Given the description of an element on the screen output the (x, y) to click on. 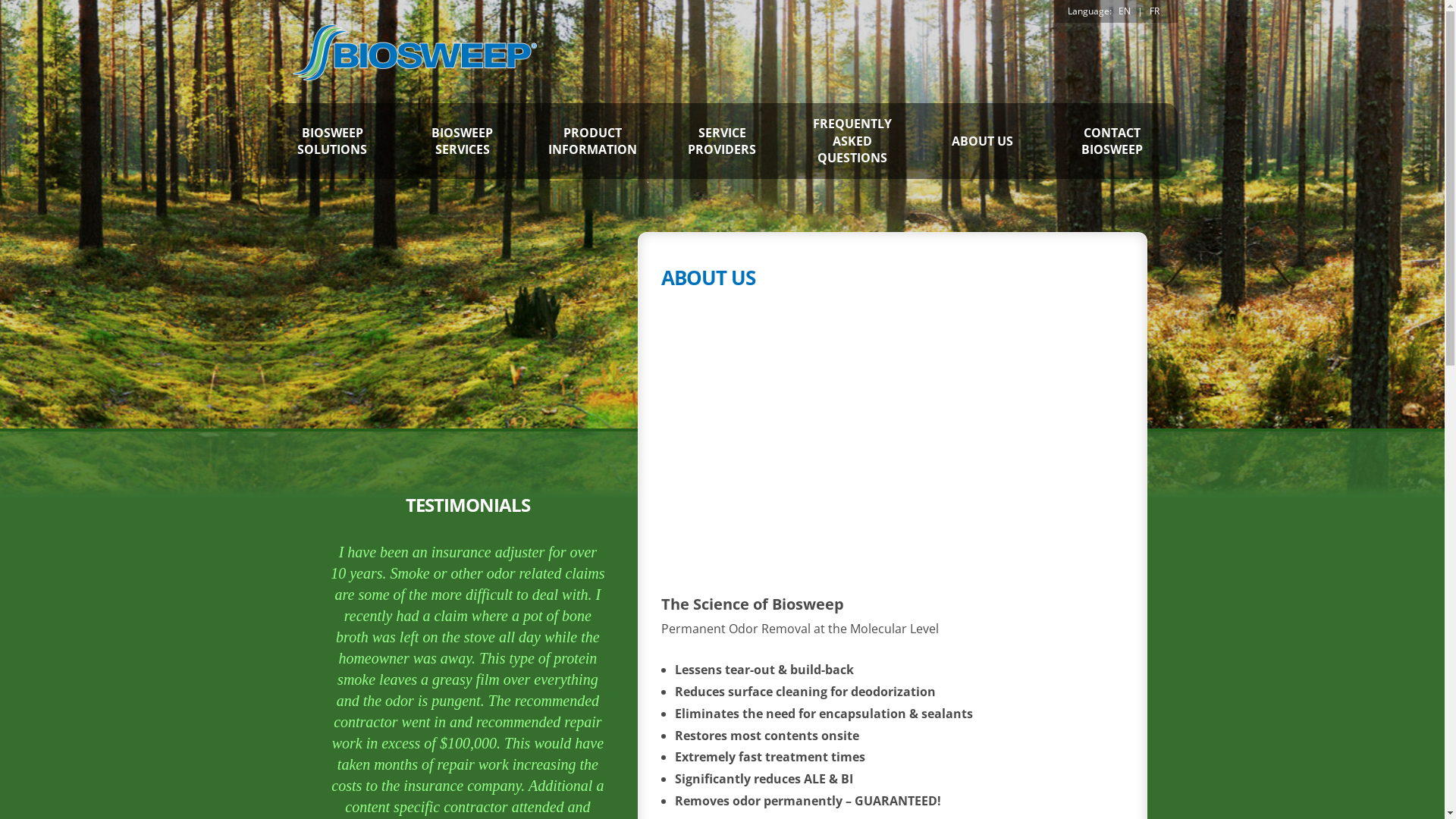
BIOSWEEP SERVICES Element type: text (462, 141)
CONTACT BIOSWEEP Element type: text (1111, 141)
PRODUCT INFORMATION Element type: text (591, 141)
SERVICE PROVIDERS Element type: text (722, 141)
EN Element type: text (1123, 10)
ABOUT US Element type: text (708, 277)
ABOUT US Element type: text (982, 140)
BIOSWEEP SOLUTIONS Element type: text (331, 141)
FREQUENTLY ASKED QUESTIONS Element type: text (851, 140)
FR Element type: text (1154, 10)
